Given the description of an element on the screen output the (x, y) to click on. 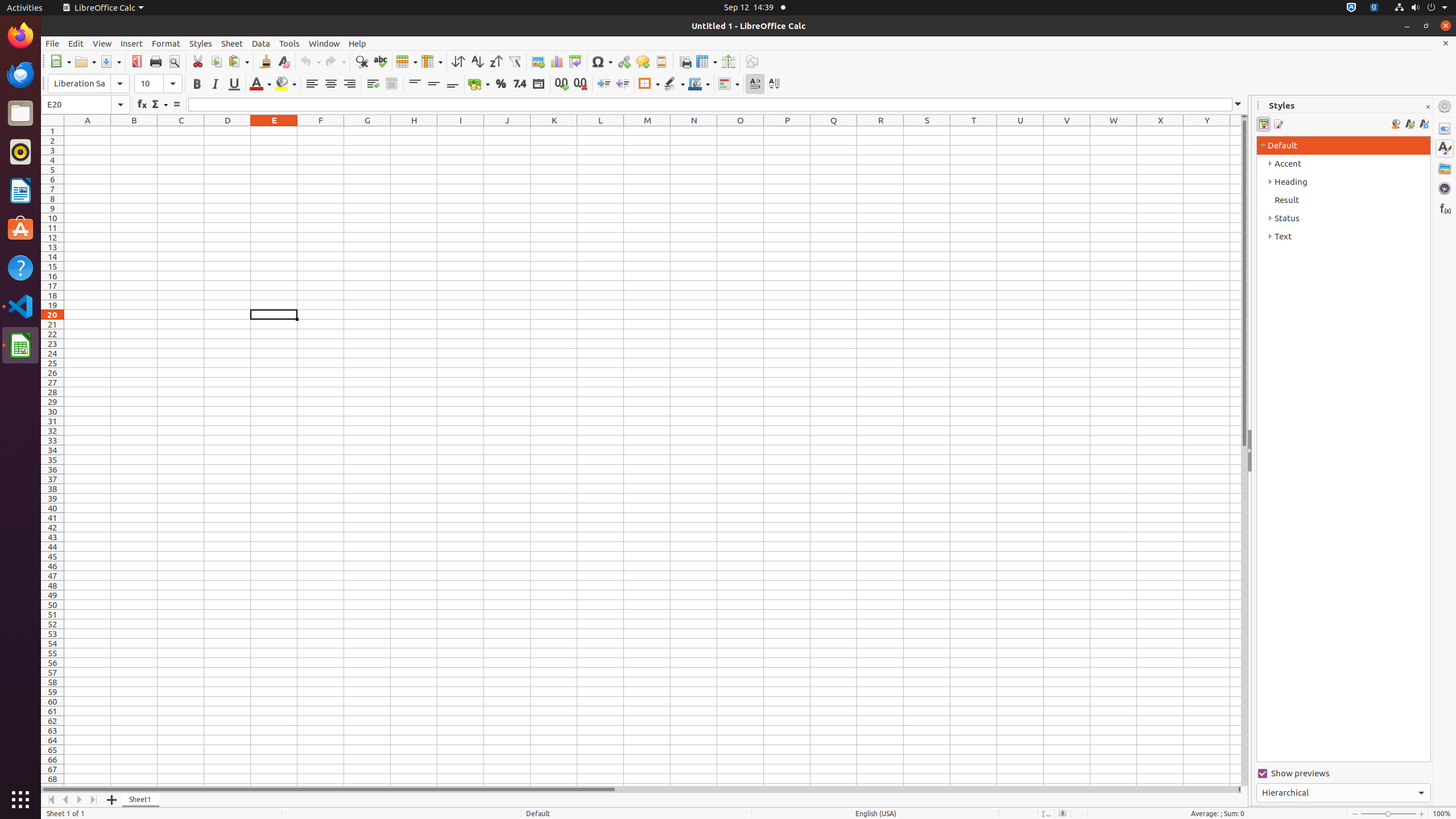
Split Window Element type: push-button (727, 61)
F1 Element type: table-cell (320, 130)
Close Sidebar Deck Element type: push-button (1427, 106)
Sheet1 Element type: page-tab (140, 799)
Align Top Element type: push-button (414, 83)
